Given the description of an element on the screen output the (x, y) to click on. 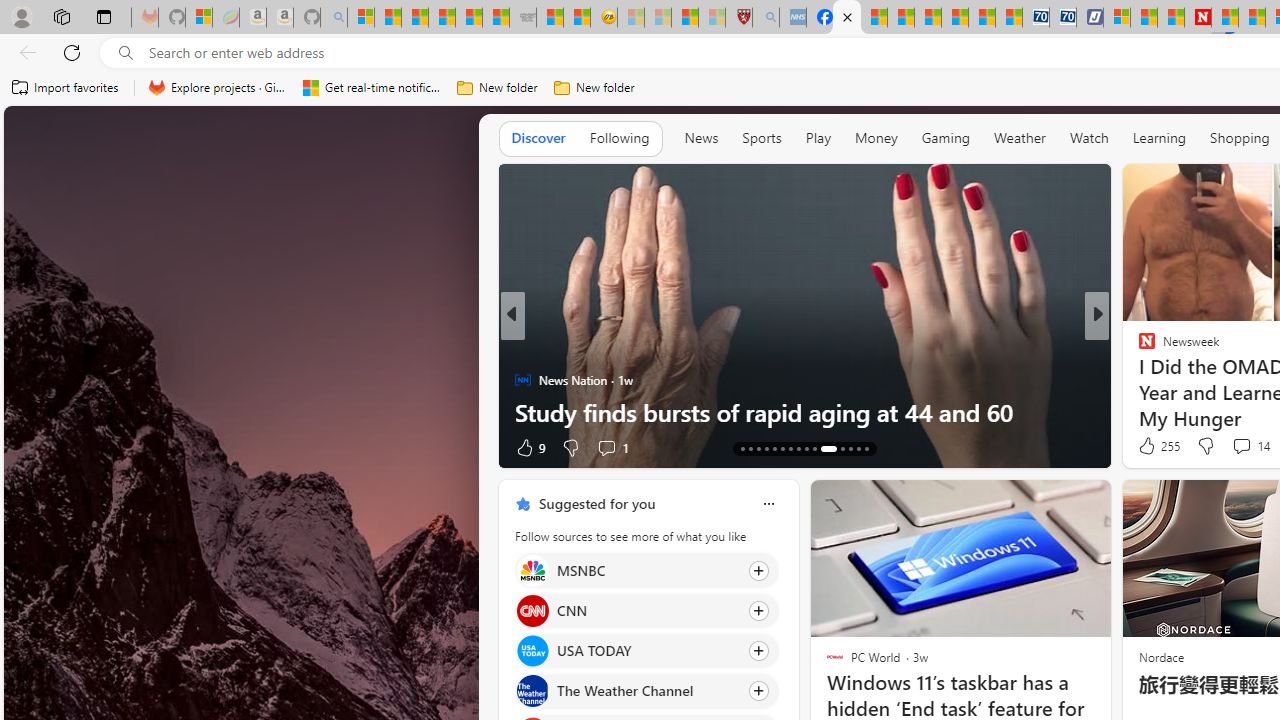
AutomationID: tab-70 (774, 448)
AutomationID: tab-67 (750, 448)
Search icon (125, 53)
AutomationID: tab-78 (850, 448)
14 Like (1149, 447)
View comments 114 Comment (1247, 447)
AutomationID: tab-92 (865, 448)
Southern Living (1138, 347)
